Given the description of an element on the screen output the (x, y) to click on. 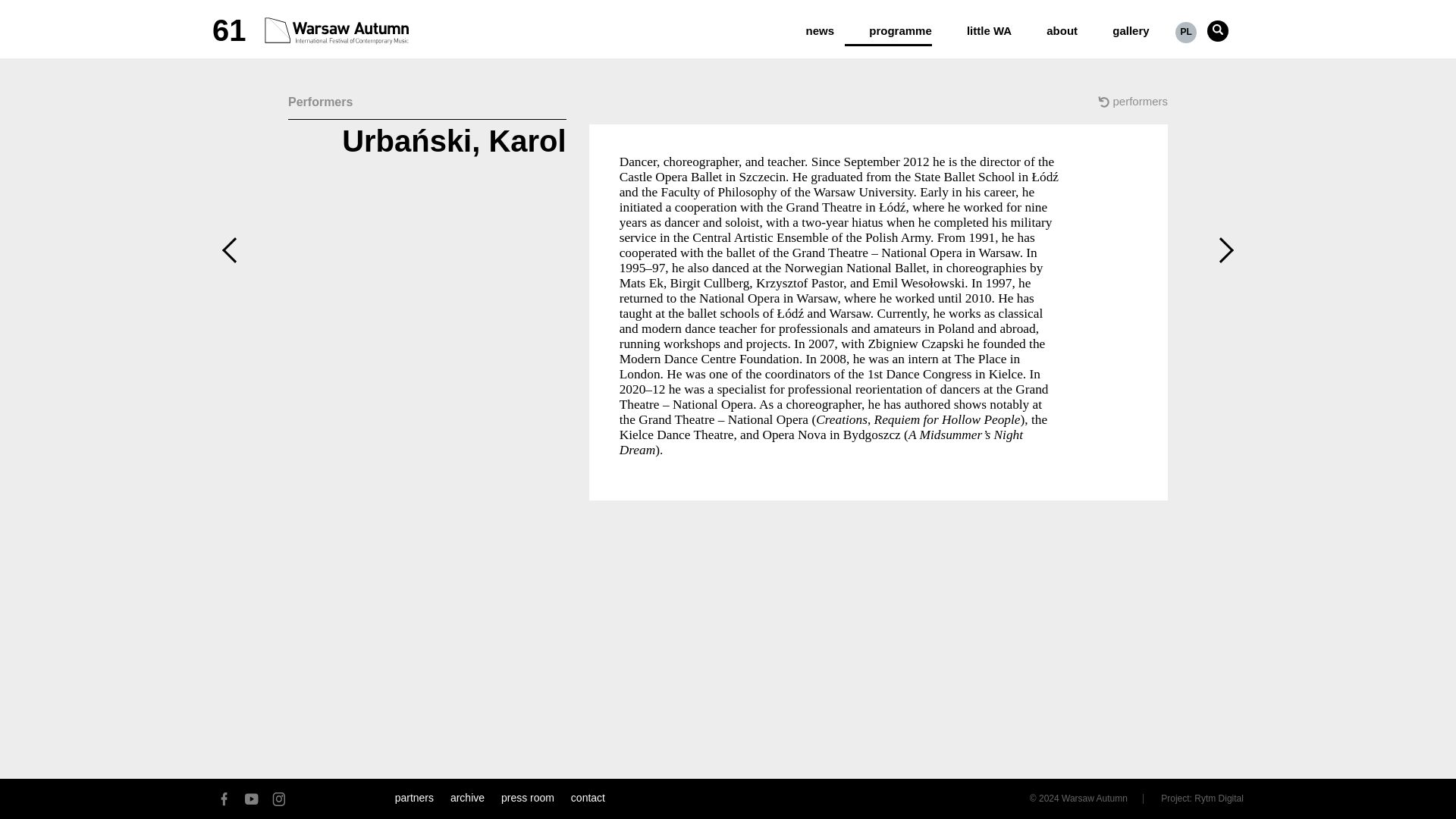
about (1049, 23)
news (807, 23)
programme (887, 23)
performers (1125, 105)
61 (316, 27)
gallery (1117, 23)
little WA (976, 23)
Performers (427, 105)
